Given the description of an element on the screen output the (x, y) to click on. 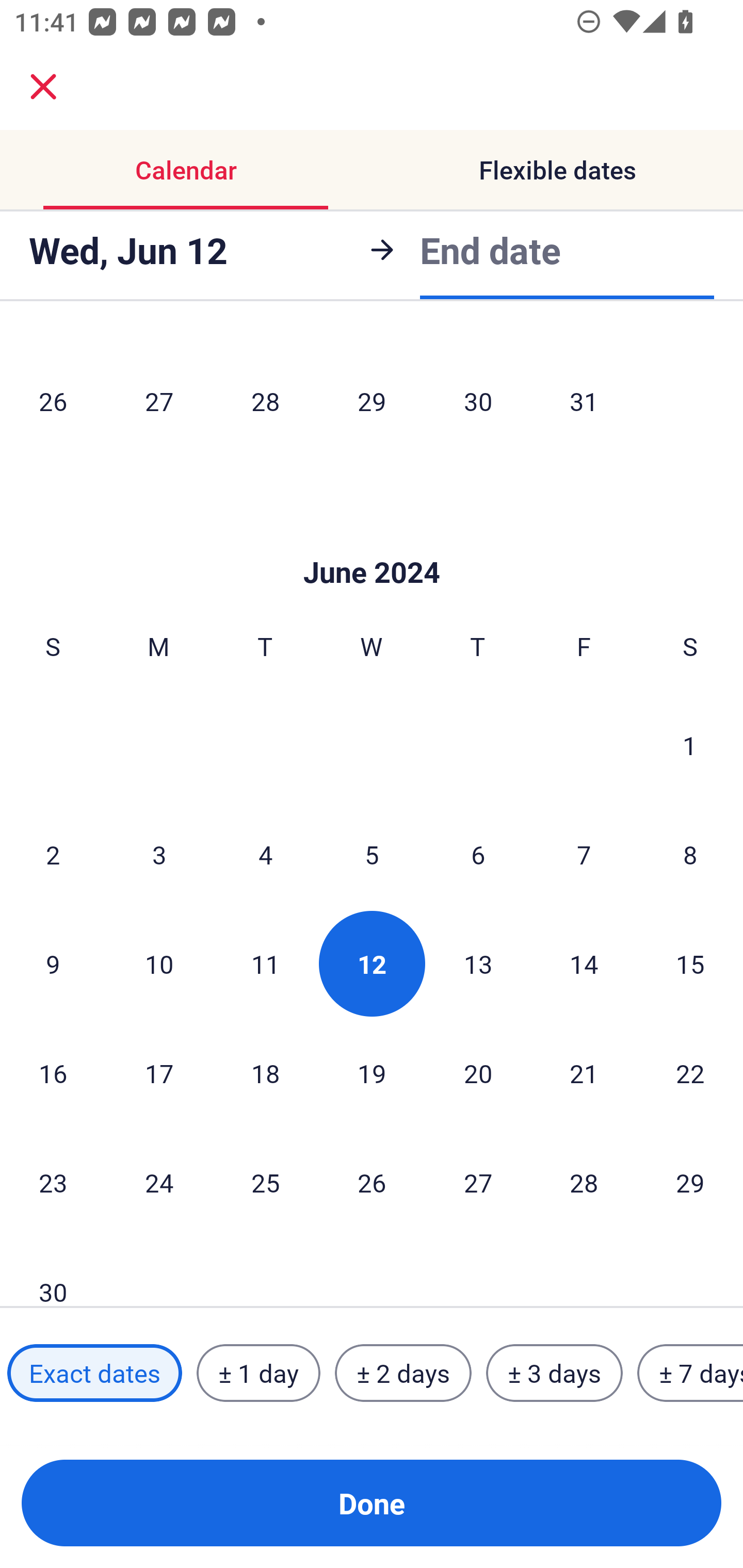
close. (43, 86)
Flexible dates (557, 170)
End date (489, 246)
26 Sunday, May 26, 2024 (53, 400)
27 Monday, May 27, 2024 (159, 400)
28 Tuesday, May 28, 2024 (265, 400)
29 Wednesday, May 29, 2024 (371, 400)
30 Thursday, May 30, 2024 (477, 400)
31 Friday, May 31, 2024 (584, 400)
Skip to Done (371, 541)
1 Saturday, June 1, 2024 (689, 744)
2 Sunday, June 2, 2024 (53, 854)
3 Monday, June 3, 2024 (159, 854)
4 Tuesday, June 4, 2024 (265, 854)
5 Wednesday, June 5, 2024 (371, 854)
6 Thursday, June 6, 2024 (477, 854)
7 Friday, June 7, 2024 (584, 854)
8 Saturday, June 8, 2024 (690, 854)
9 Sunday, June 9, 2024 (53, 963)
10 Monday, June 10, 2024 (159, 963)
11 Tuesday, June 11, 2024 (265, 963)
13 Thursday, June 13, 2024 (477, 963)
14 Friday, June 14, 2024 (584, 963)
15 Saturday, June 15, 2024 (690, 963)
16 Sunday, June 16, 2024 (53, 1072)
17 Monday, June 17, 2024 (159, 1072)
18 Tuesday, June 18, 2024 (265, 1072)
19 Wednesday, June 19, 2024 (371, 1072)
20 Thursday, June 20, 2024 (477, 1072)
21 Friday, June 21, 2024 (584, 1072)
22 Saturday, June 22, 2024 (690, 1072)
23 Sunday, June 23, 2024 (53, 1181)
24 Monday, June 24, 2024 (159, 1181)
25 Tuesday, June 25, 2024 (265, 1181)
26 Wednesday, June 26, 2024 (371, 1181)
27 Thursday, June 27, 2024 (477, 1181)
28 Friday, June 28, 2024 (584, 1181)
29 Saturday, June 29, 2024 (690, 1181)
30 Sunday, June 30, 2024 (53, 1272)
Exact dates (94, 1372)
± 1 day (258, 1372)
± 2 days (403, 1372)
± 3 days (553, 1372)
± 7 days (690, 1372)
Done (371, 1502)
